Given the description of an element on the screen output the (x, y) to click on. 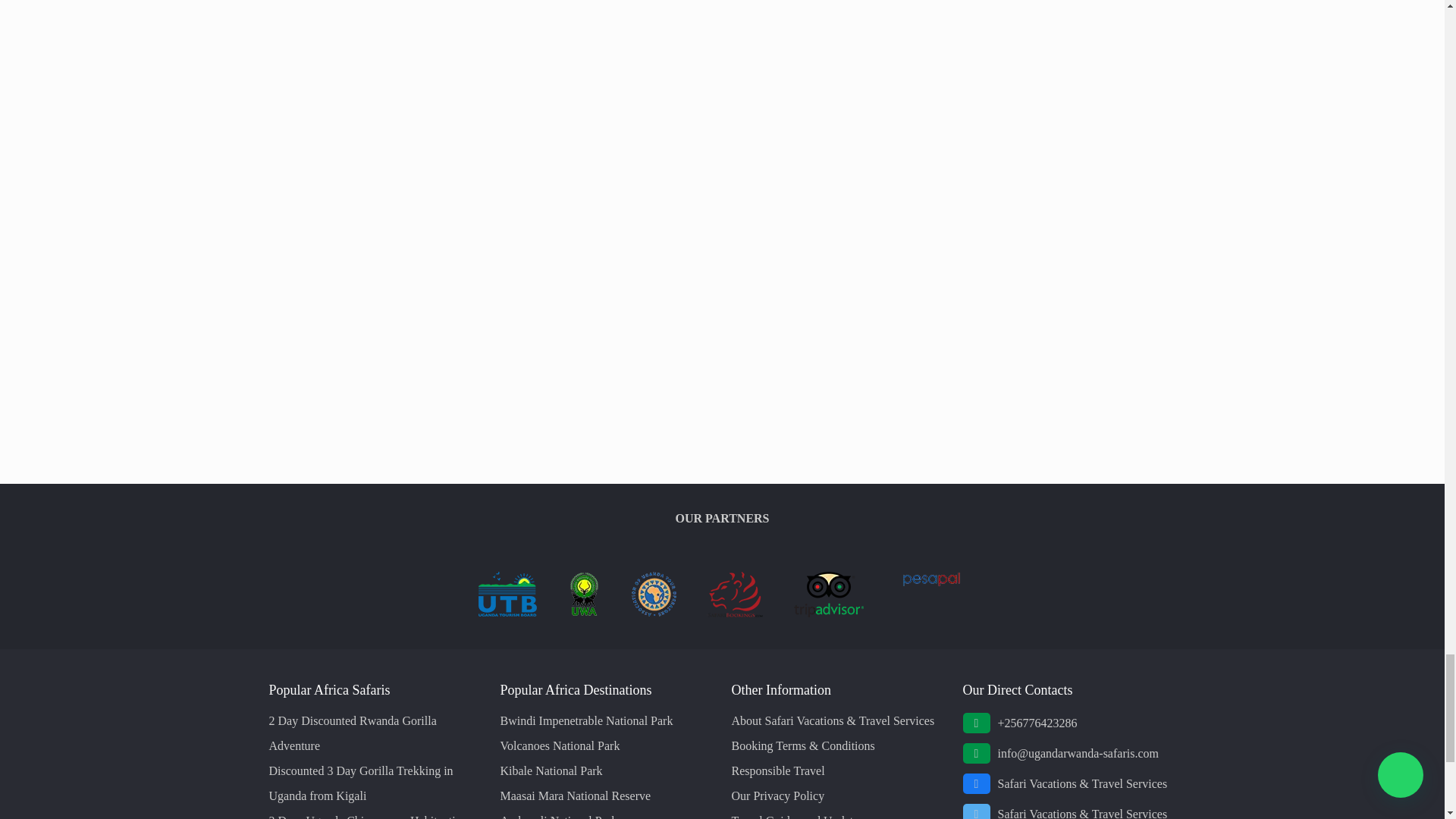
Safari Bookings (735, 613)
Uganda Tourism Board (507, 613)
Uganda Wildlife Authority (584, 613)
Association of Uganda Tour Operators (653, 613)
Trip Advisor (828, 613)
